Given the description of an element on the screen output the (x, y) to click on. 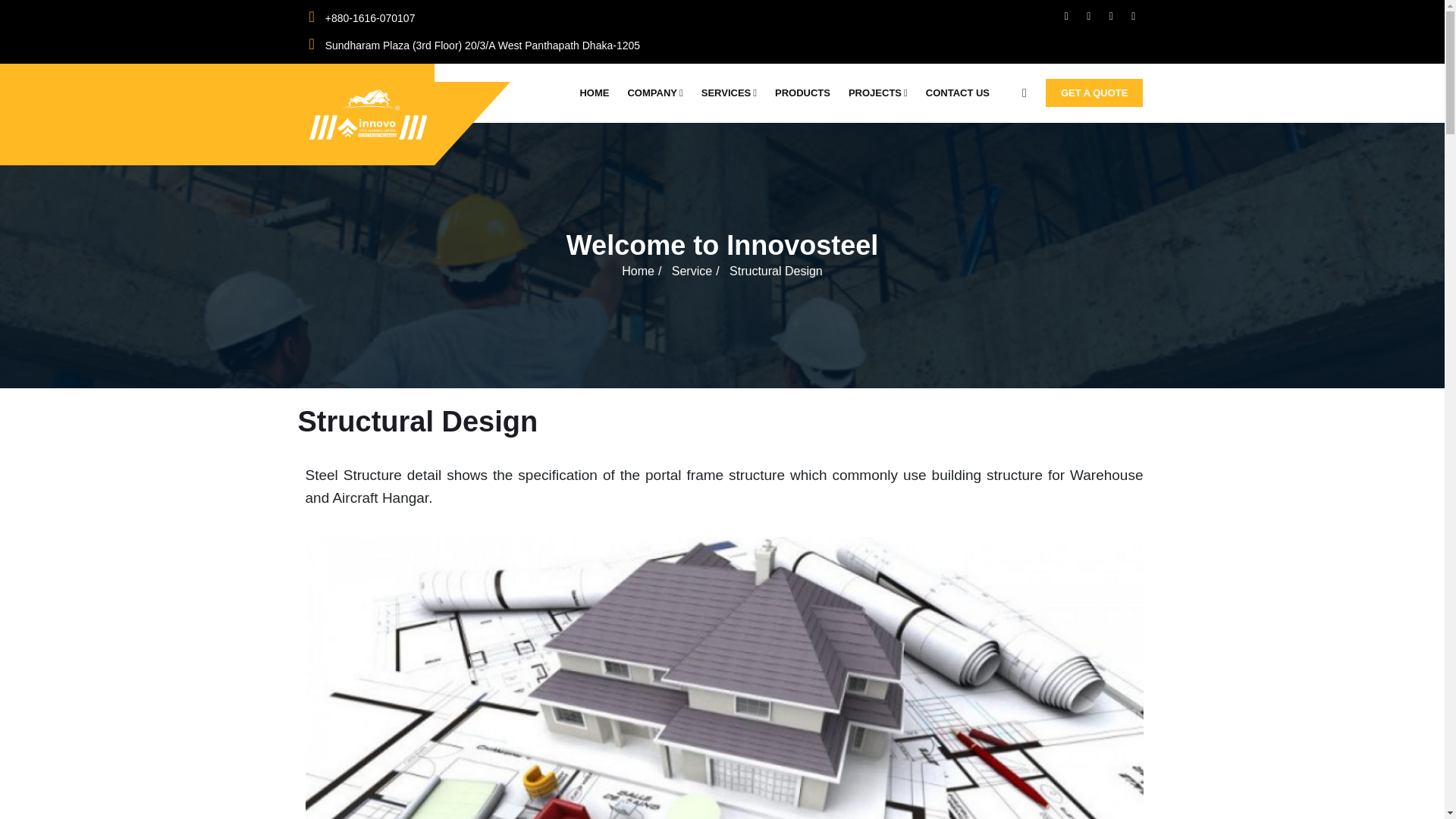
PROJECTS (882, 92)
PRODUCTS (807, 92)
GET A QUOTE (1094, 92)
Twitter (1087, 15)
google plus (1111, 15)
COMPANY (659, 92)
Linkedin (1133, 15)
Home (637, 269)
CONTACT US (962, 92)
SERVICES (733, 92)
